Given the description of an element on the screen output the (x, y) to click on. 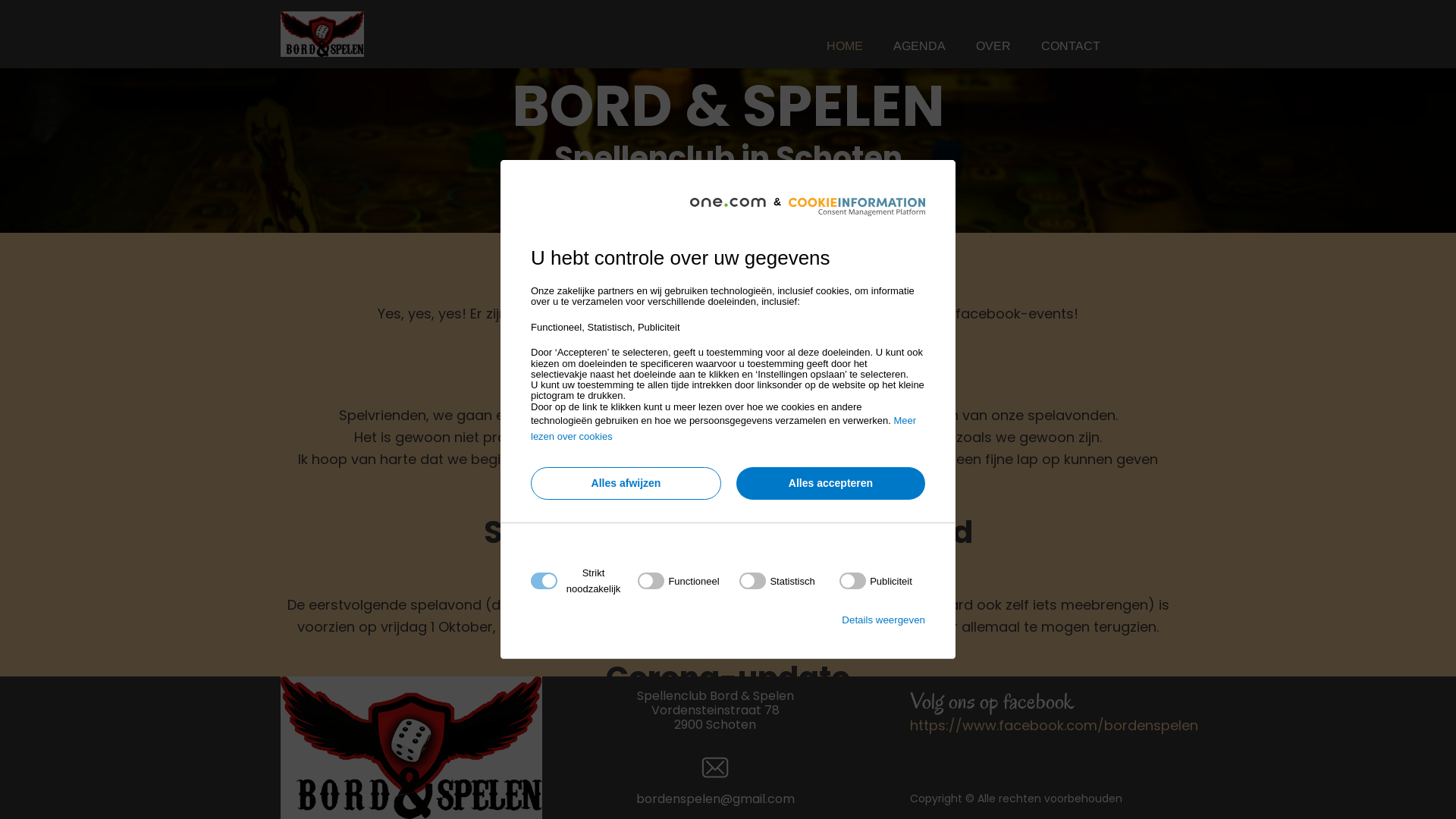
on Element type: text (677, 580)
HOME Element type: text (844, 45)
Details weergeven Element type: text (883, 619)
bordenspelen@gmail.com Element type: text (714, 798)
Functioneel Element type: text (723, 763)
Spellenclub Bord & Spelen
Vordensteinstraat 78
2900 Schoten Element type: text (715, 710)
on Element type: text (875, 580)
Alles afwijzen Element type: text (625, 483)
SPEEL MET ONS MEE Element type: text (727, 201)
Meer lezen over cookies Element type: text (723, 428)
on Element type: text (776, 580)
OVER Element type: text (992, 45)
Alles accepteren Element type: text (830, 483)
https://www.facebook.com/bordenspelen Element type: text (1054, 724)
Strikt noodzakelijk Element type: text (723, 673)
CONTACT Element type: text (1069, 45)
AGENDA Element type: text (919, 45)
